Given the description of an element on the screen output the (x, y) to click on. 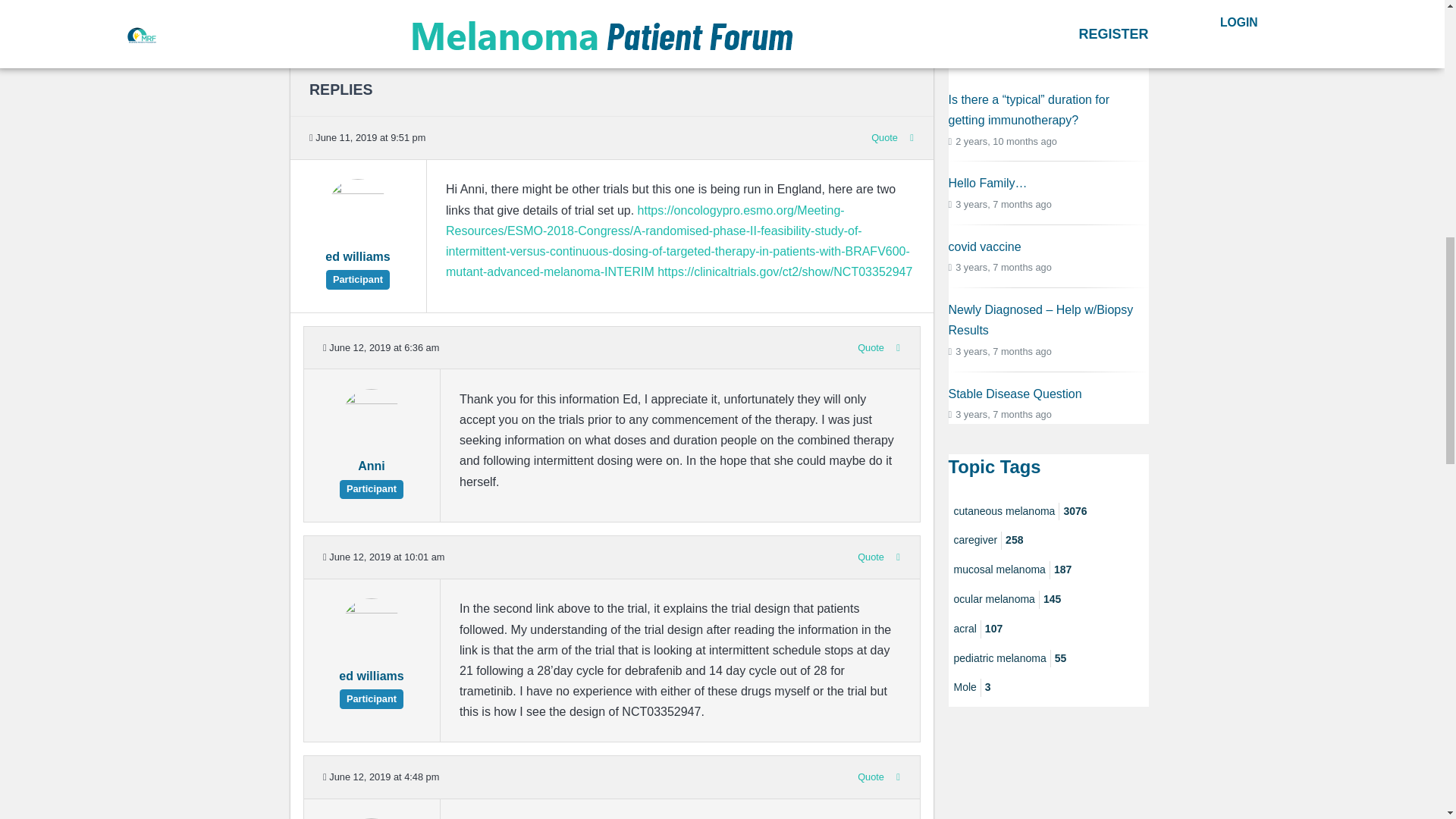
View Anni's profile (370, 474)
ed williams (370, 684)
Quote (870, 776)
View Anni's profile (370, 445)
View ed williams's profile (370, 655)
Quote (870, 556)
View ed williams's profile (357, 265)
View ed williams's profile (357, 236)
Quote (870, 347)
ed williams (357, 265)
View ed williams's profile (370, 684)
Quote (884, 137)
Anni (370, 474)
